Given the description of an element on the screen output the (x, y) to click on. 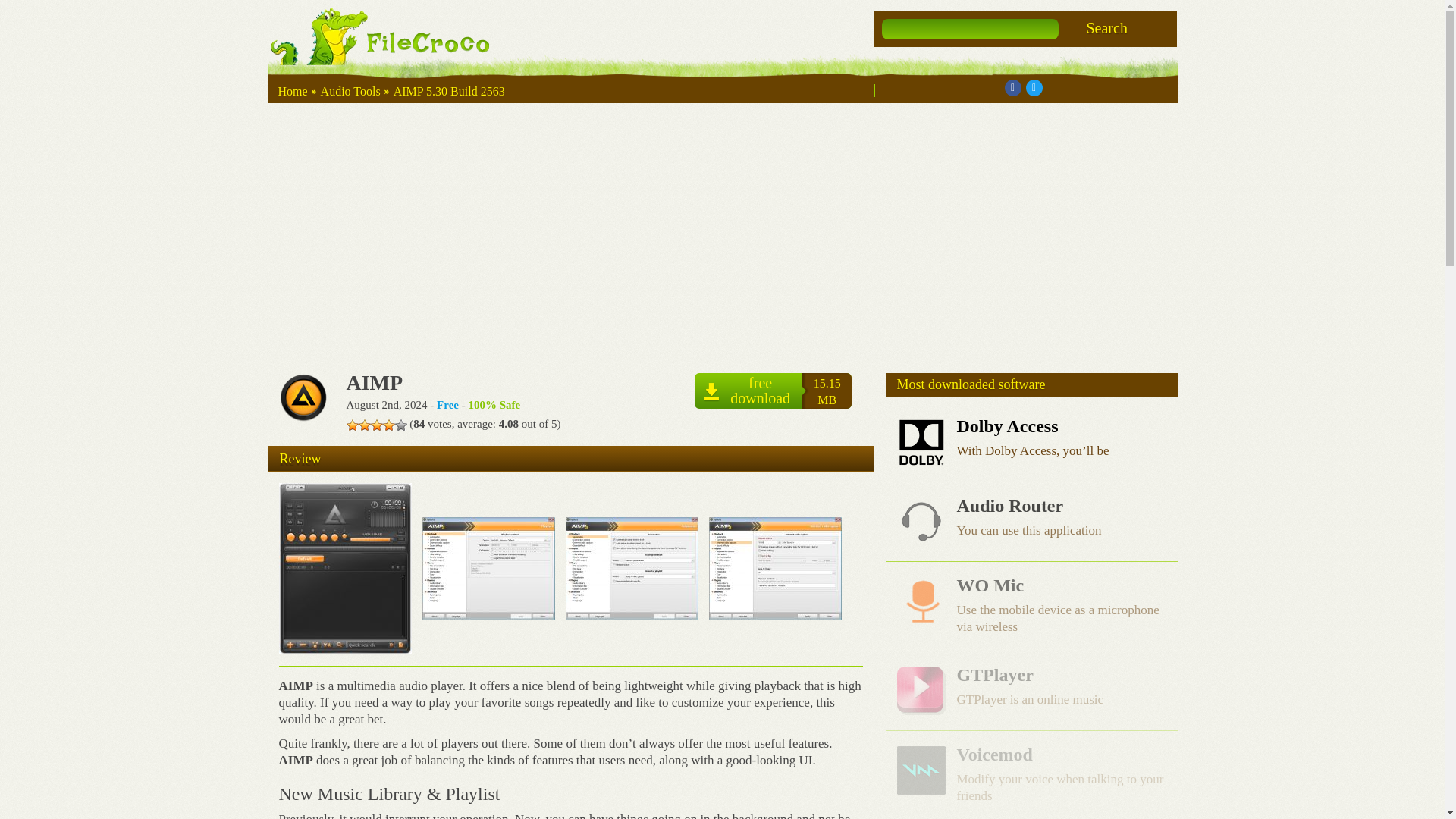
Audio Tools (350, 91)
Home (292, 91)
Search (772, 390)
AIMP (1106, 27)
